Given the description of an element on the screen output the (x, y) to click on. 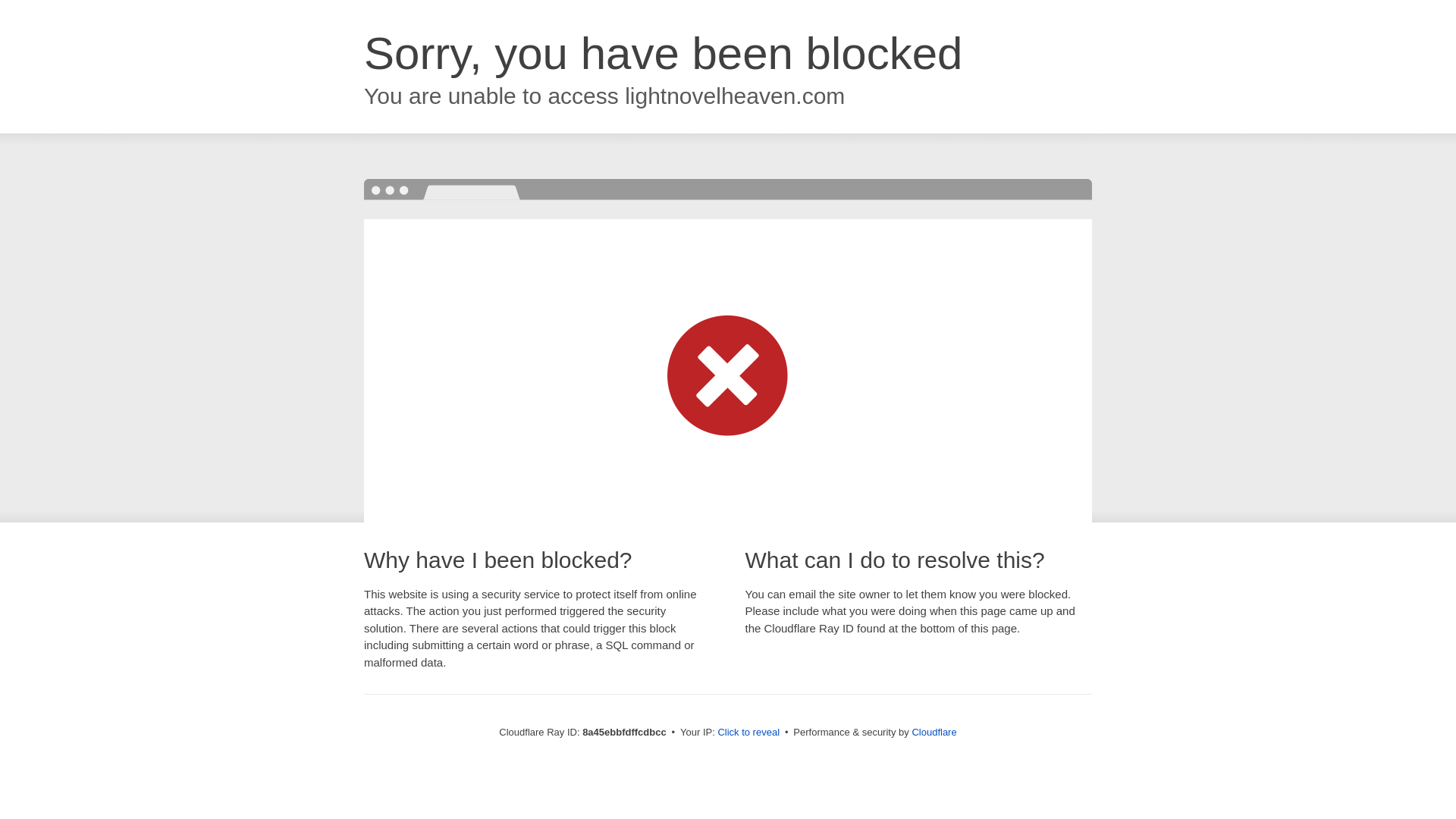
Click to reveal (747, 732)
Cloudflare (933, 731)
